Given the description of an element on the screen output the (x, y) to click on. 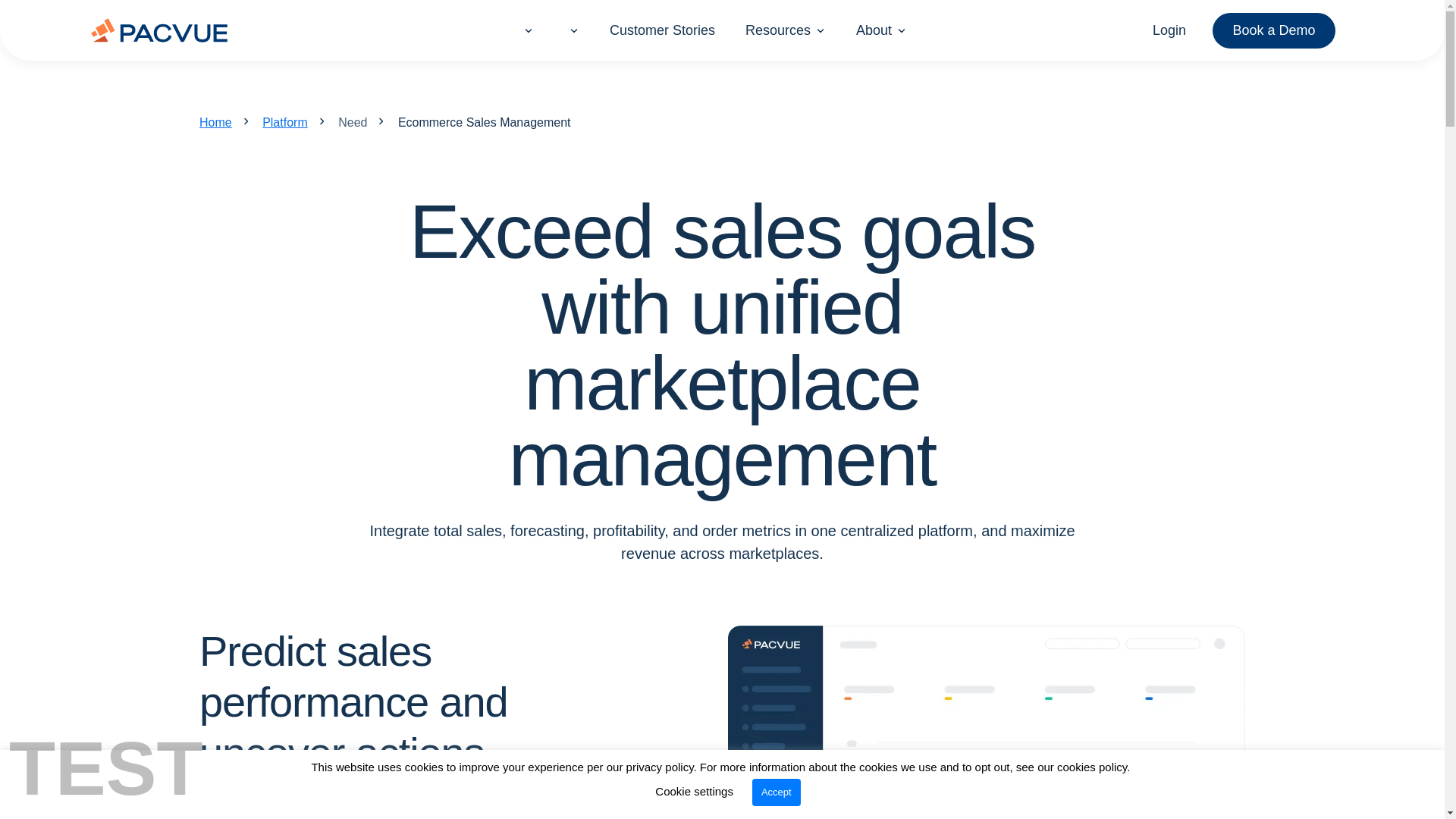
Resources (777, 29)
Cookie settings (694, 790)
privacy policy (660, 766)
Accept (776, 791)
Customer Stories (662, 29)
our cookies policy (1081, 766)
